Given the description of an element on the screen output the (x, y) to click on. 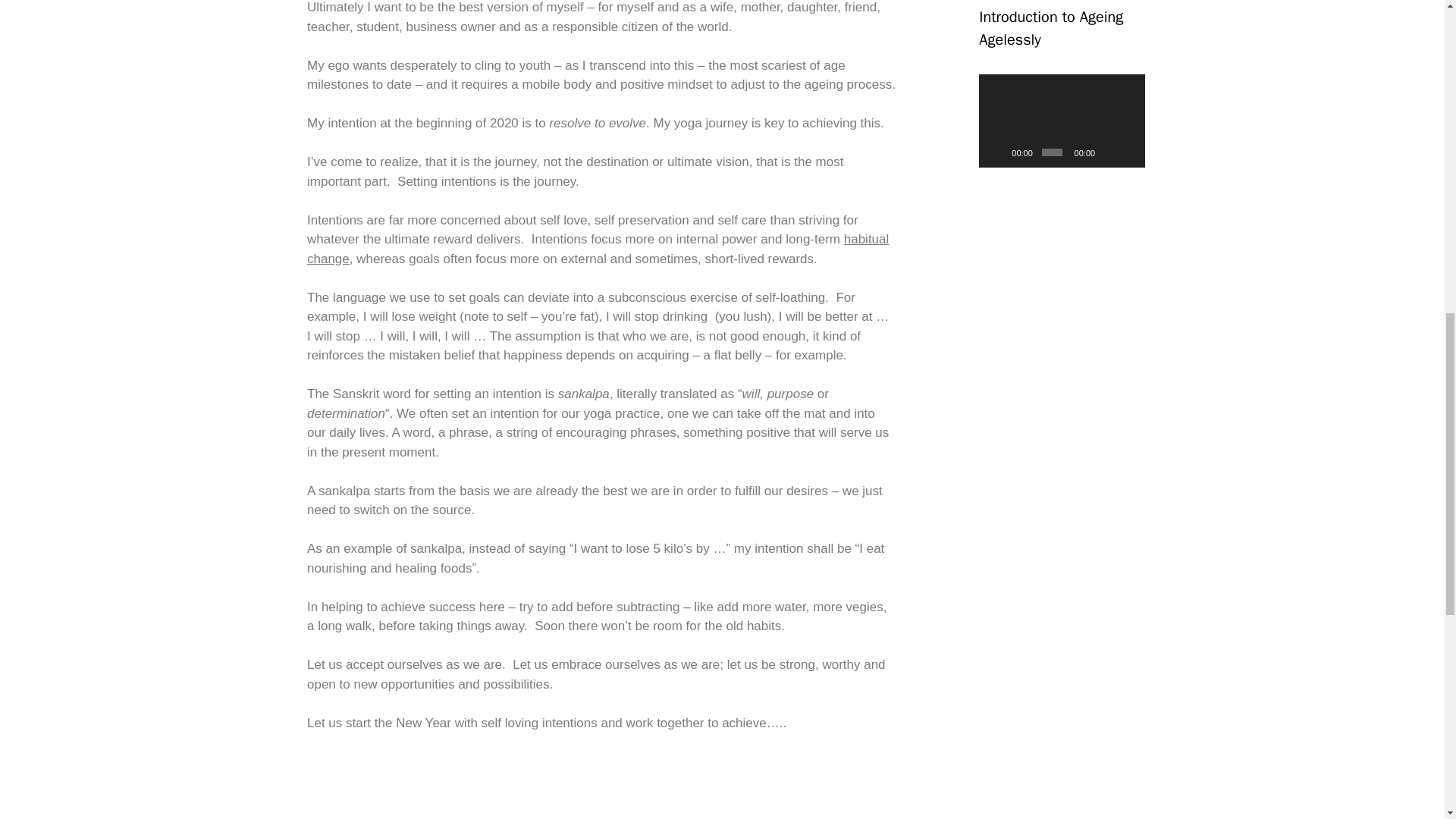
Fullscreen (1129, 151)
Play (998, 151)
Mute (1108, 151)
